Given the description of an element on the screen output the (x, y) to click on. 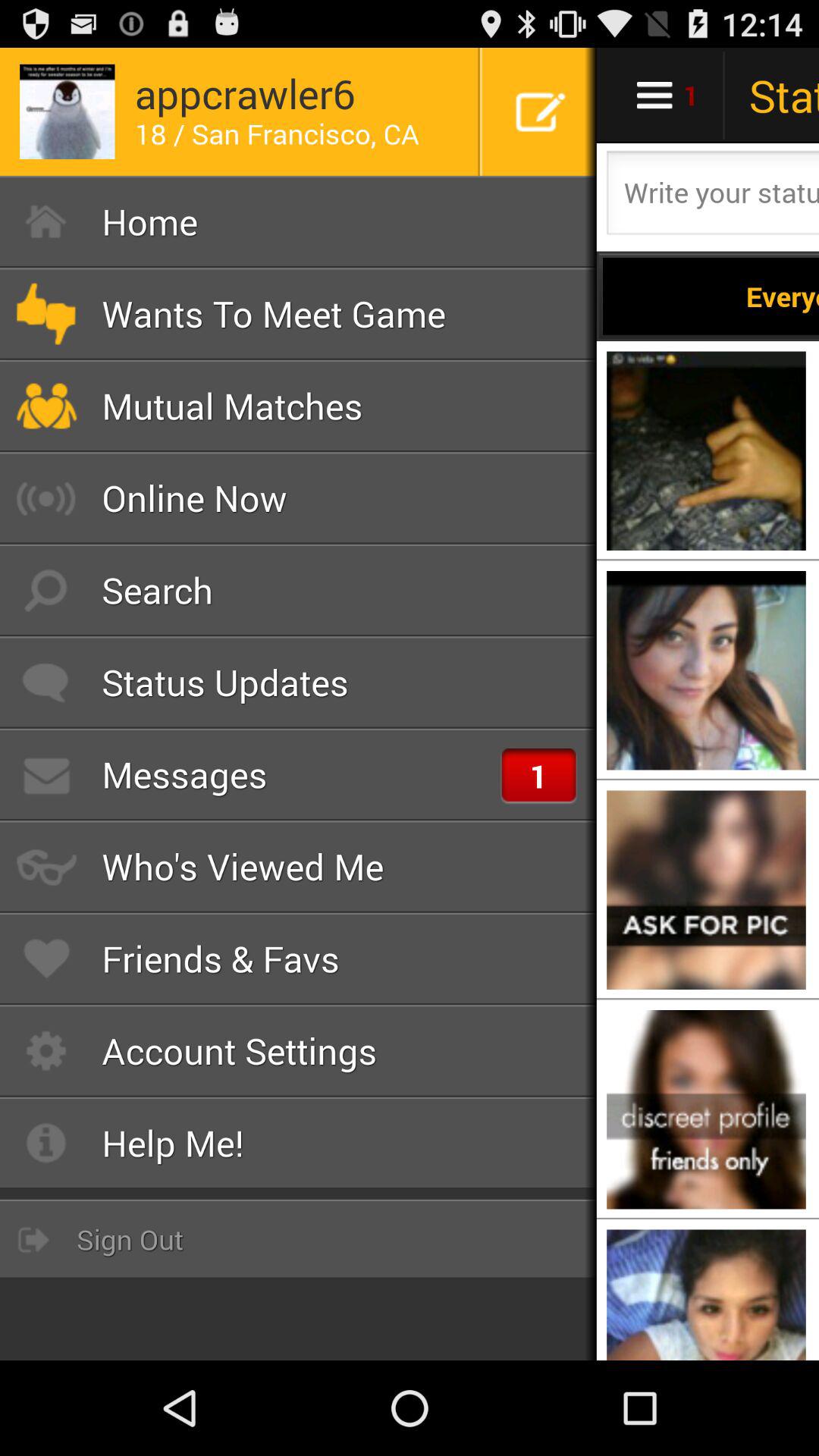
flip until online now icon (298, 498)
